Given the description of an element on the screen output the (x, y) to click on. 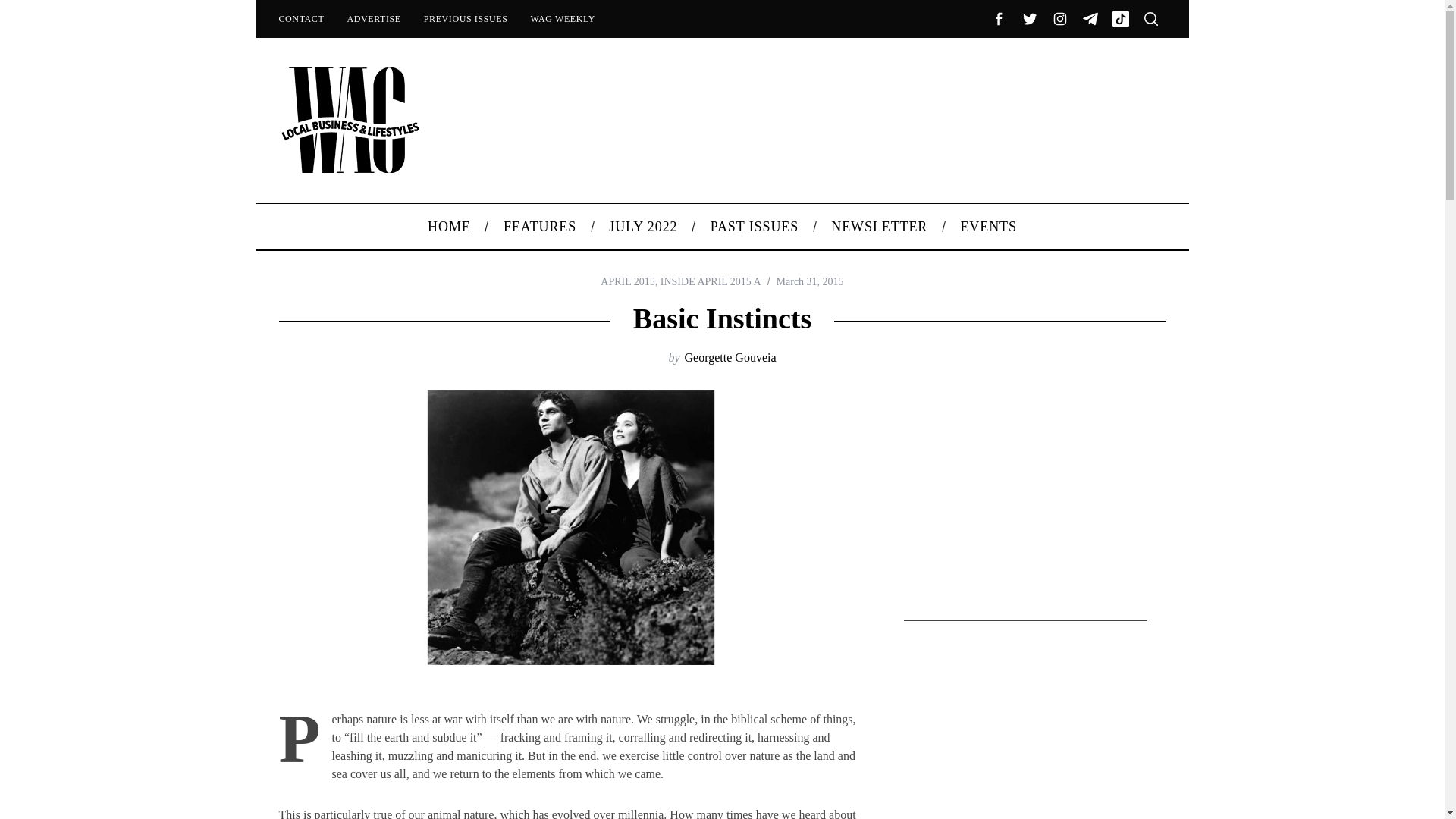
WAG WEEKLY (562, 18)
PREVIOUS ISSUES (465, 18)
FEATURES (539, 226)
PAST ISSUES (754, 226)
JULY 2022 (643, 226)
CONTACT (300, 18)
ADVERTISE (373, 18)
